Given the description of an element on the screen output the (x, y) to click on. 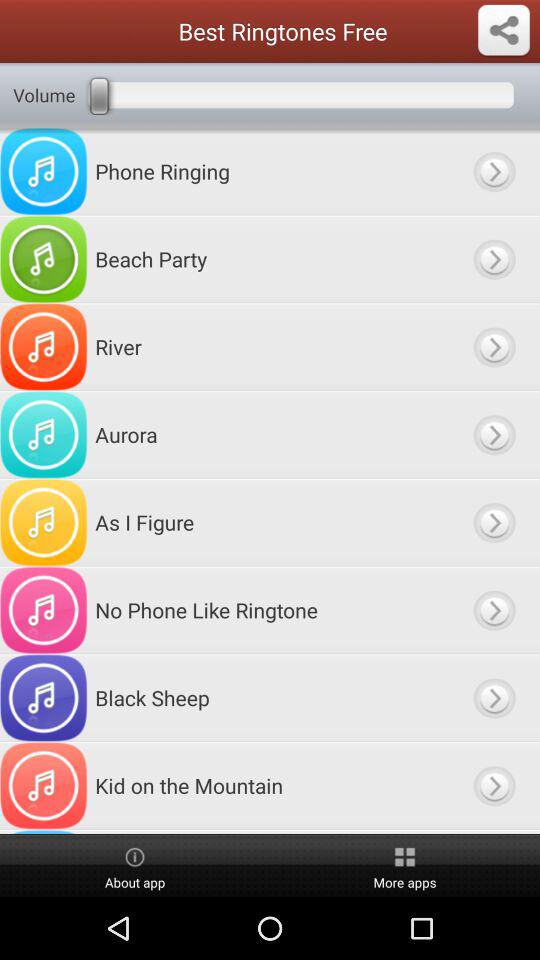
go to selected ringtone (494, 434)
